Given the description of an element on the screen output the (x, y) to click on. 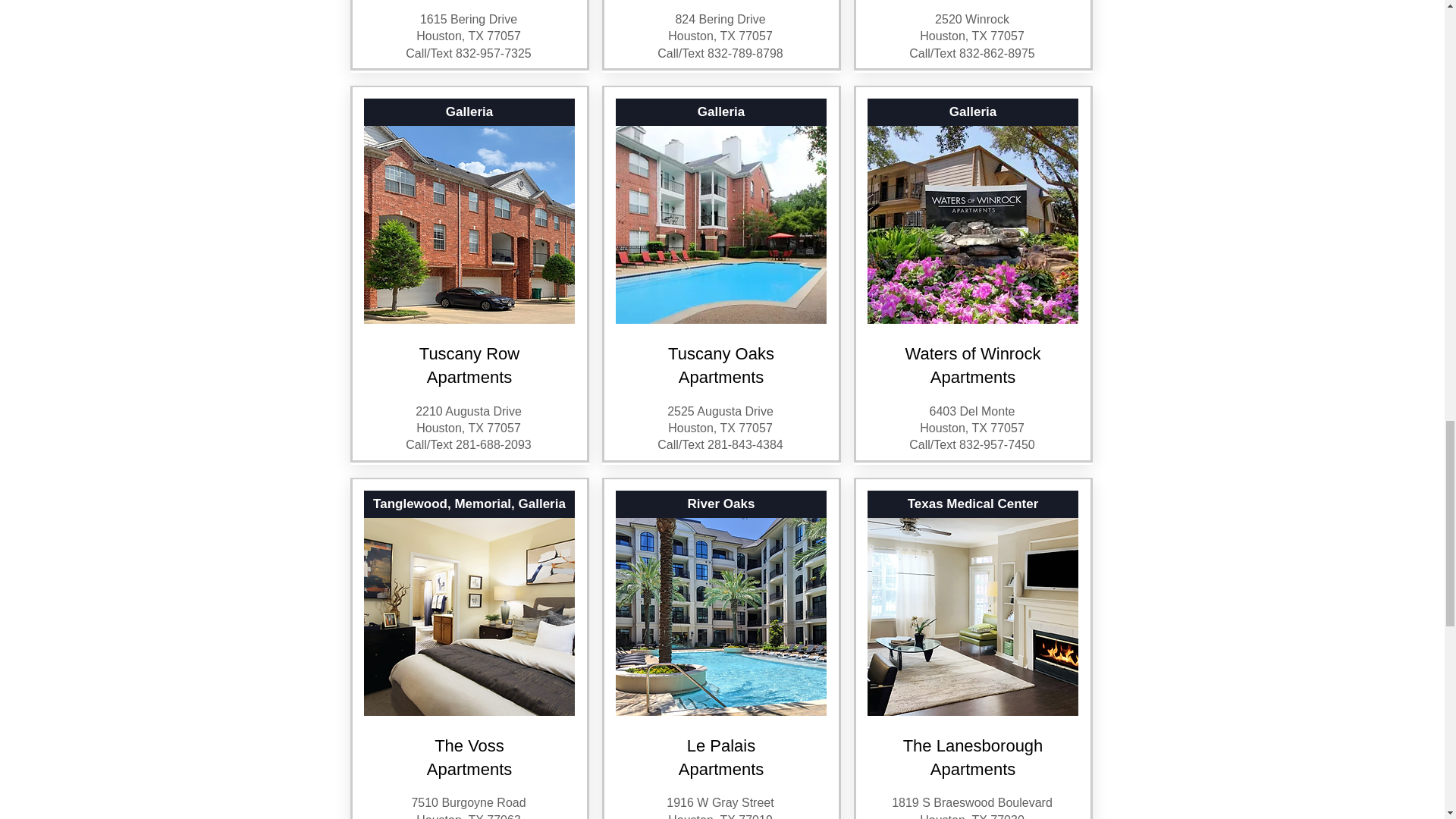
WIN.jpg (972, 224)
VOS.png (469, 615)
LNB.png (972, 615)
LEP Pool 1.png (721, 615)
TRW.png (469, 224)
